Given the description of an element on the screen output the (x, y) to click on. 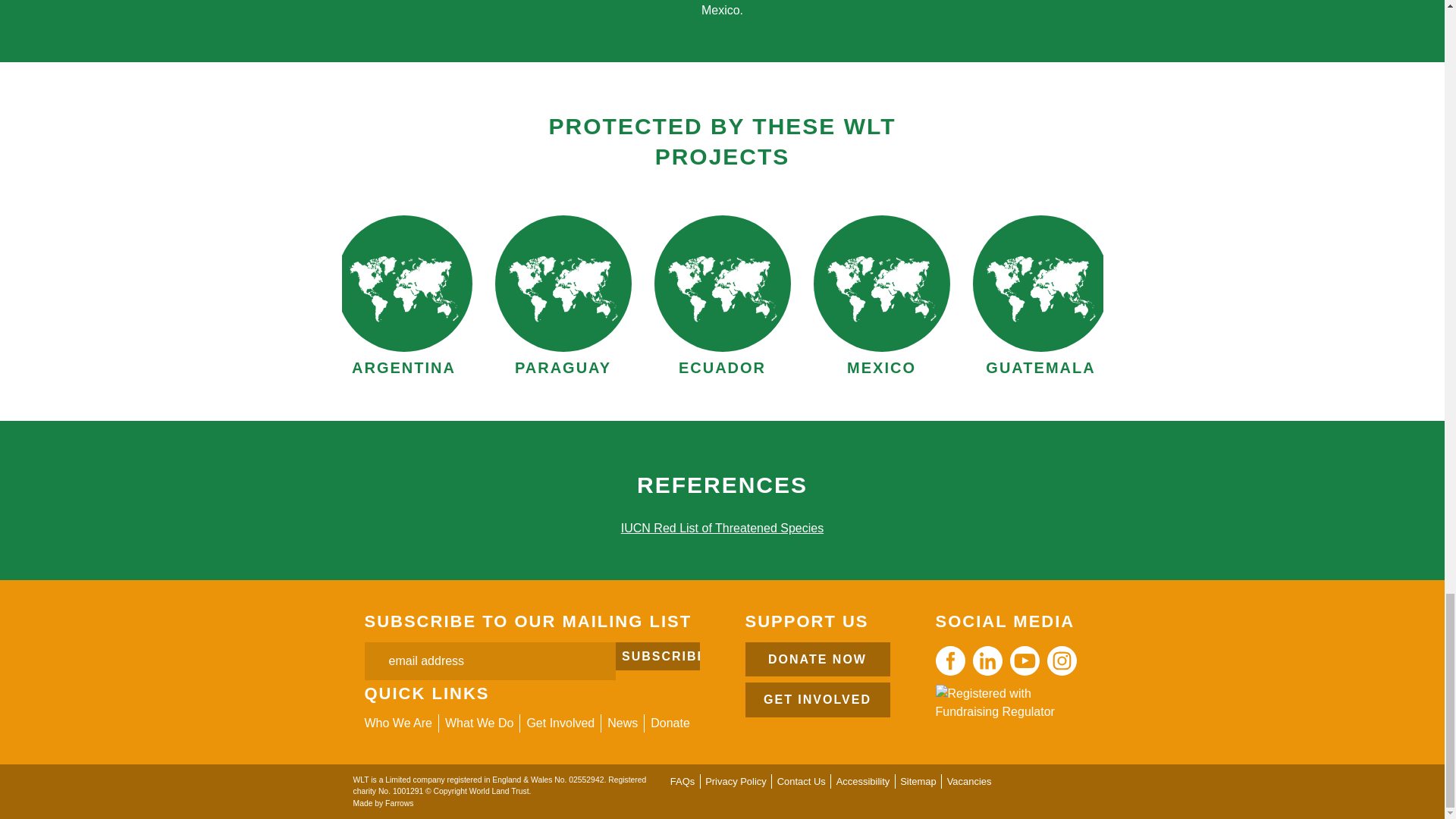
world-map-white (562, 286)
world-map-white (881, 286)
world-map-white (1040, 286)
world-map-white (721, 286)
Subscribe (657, 656)
world-map-white (403, 286)
Registered with Fundraising Regulator (1008, 702)
